Given the description of an element on the screen output the (x, y) to click on. 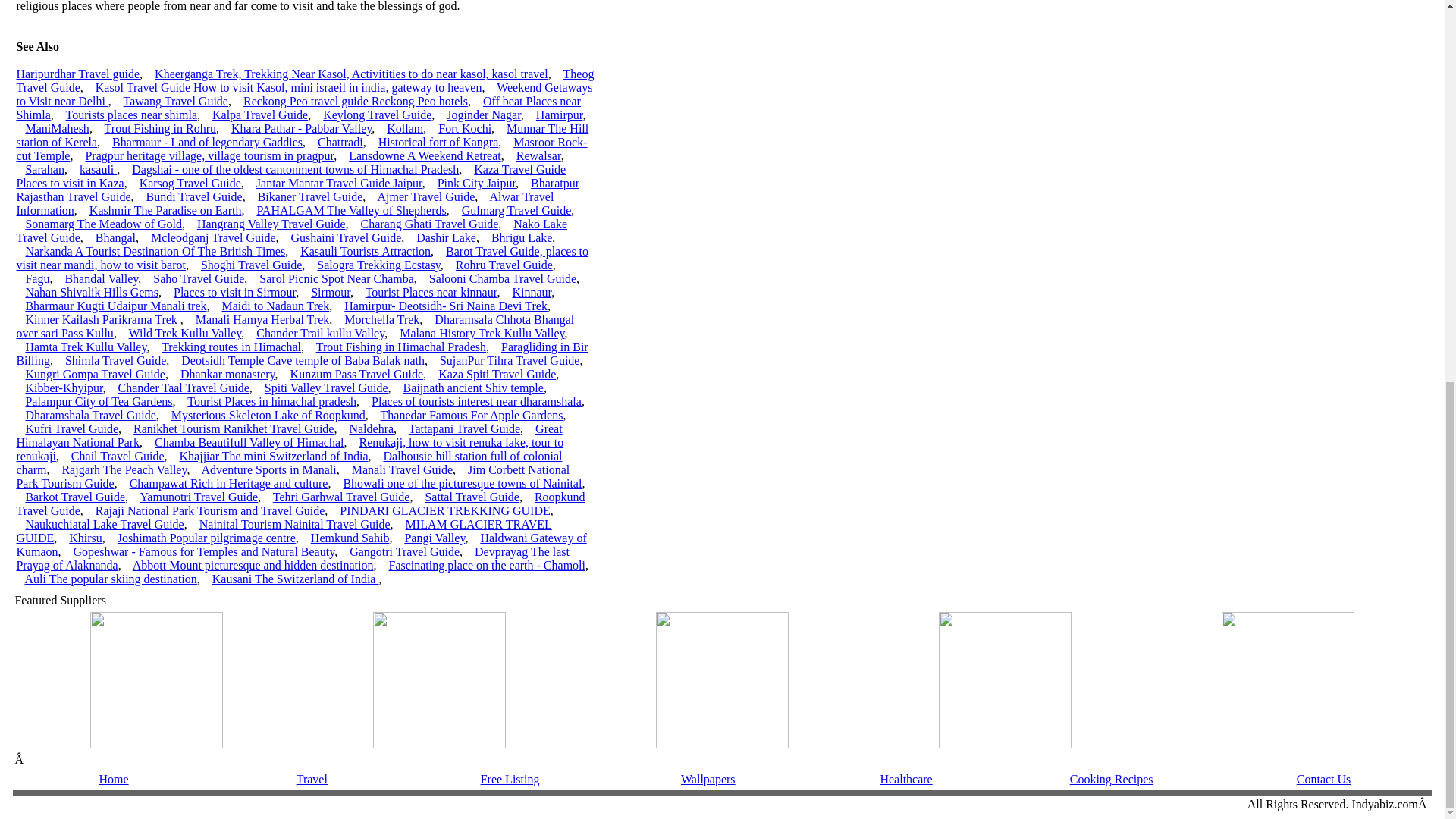
Rewalsar (538, 155)
Lansdowne A Weekend Retreat (424, 155)
Tourists places near shimla (130, 114)
Haripurdhar Travel guide (77, 73)
Kaza Travel Guide Places to visit in Kaza (291, 175)
Keylong Travel Guide (376, 114)
Off beat Places near Shimla (297, 108)
Weekend Getaways to Visit near Delhi (304, 94)
